Given the description of an element on the screen output the (x, y) to click on. 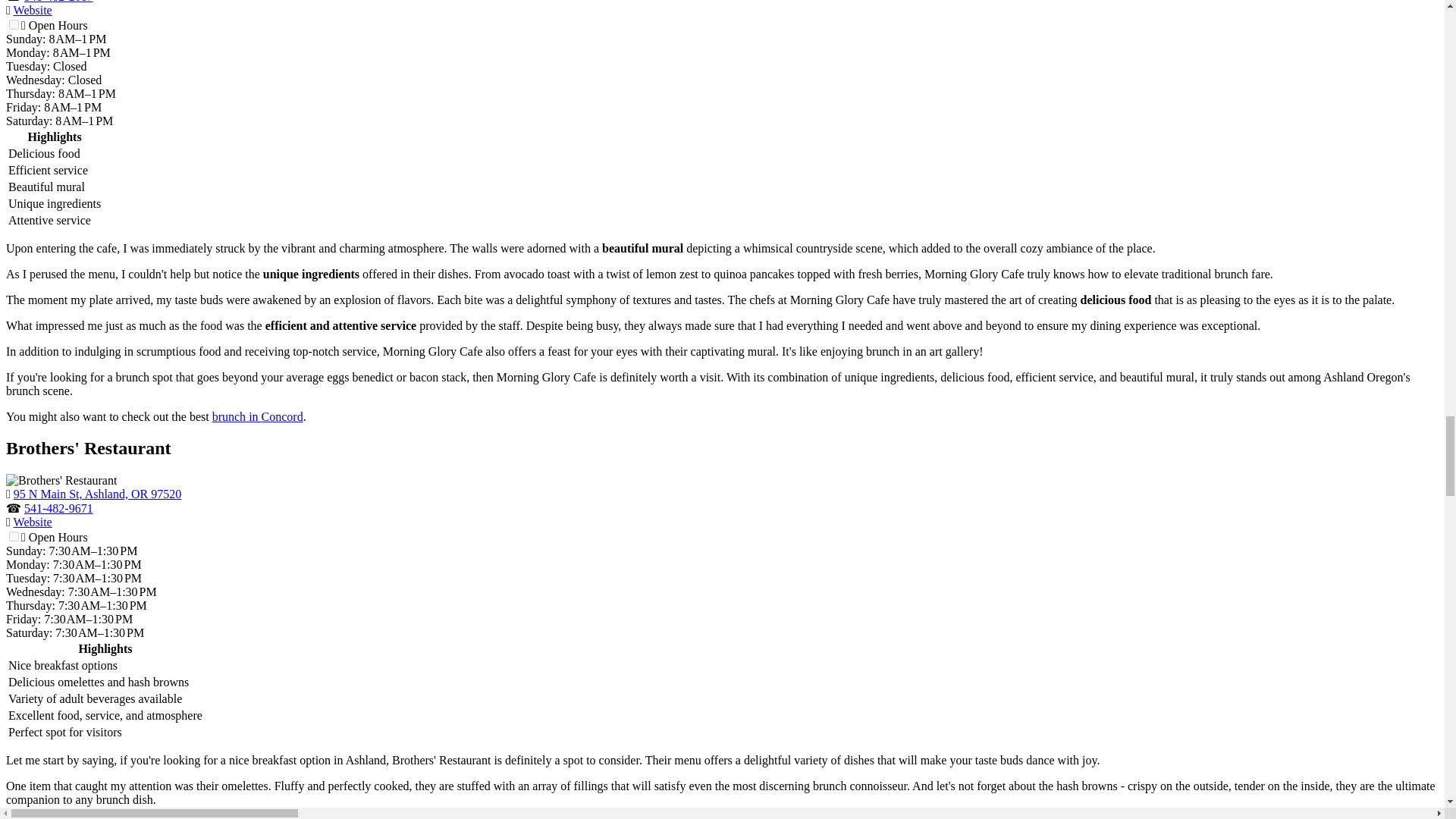
on (13, 536)
on (13, 24)
